Given the description of an element on the screen output the (x, y) to click on. 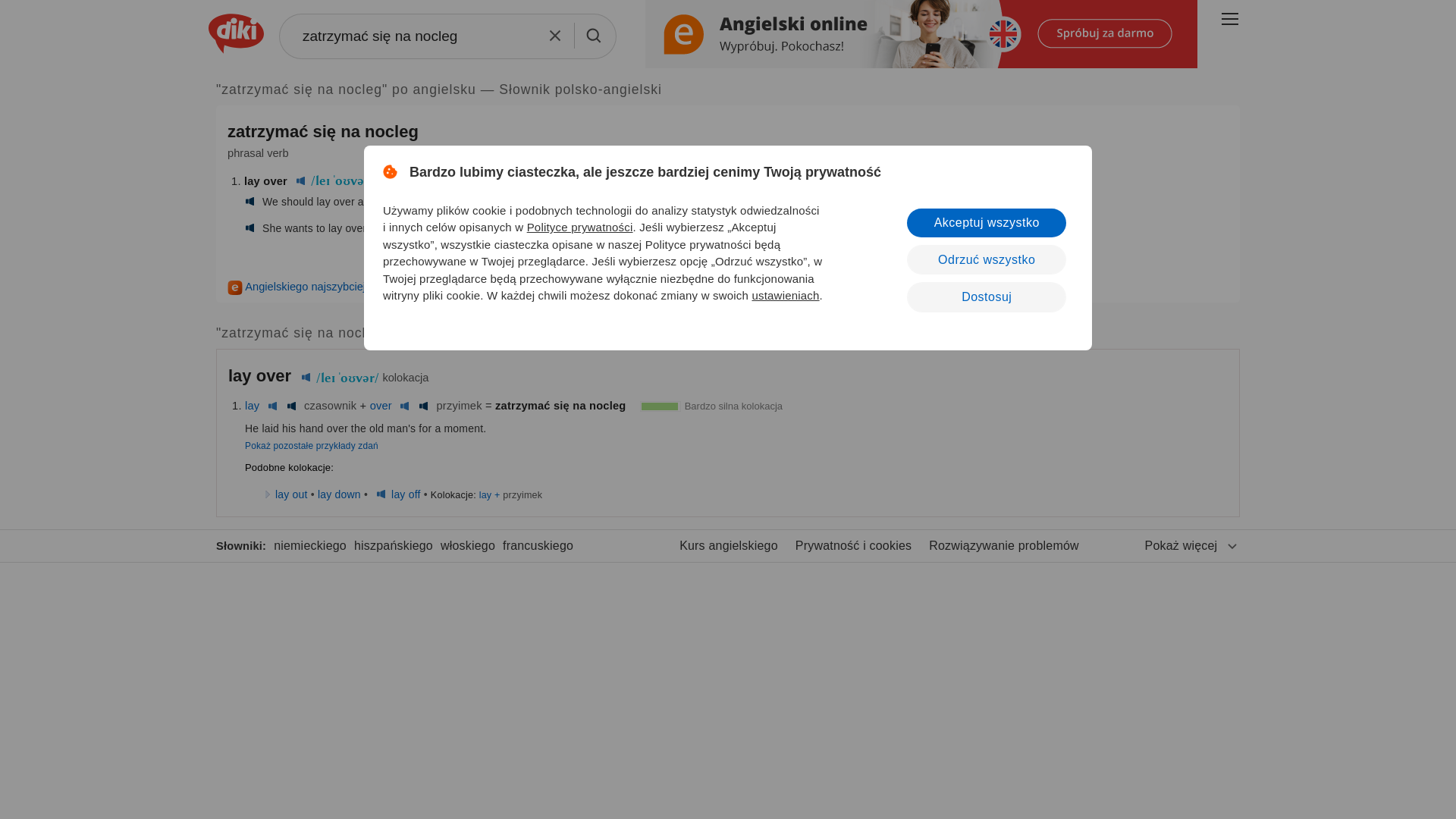
American English (422, 405)
American English (250, 227)
British English (403, 405)
ustawieniach (784, 295)
British English (272, 405)
Szukaj (593, 35)
lay off (405, 494)
Akceptuj wszystko (986, 222)
lay out (291, 494)
British English (305, 377)
